Given the description of an element on the screen output the (x, y) to click on. 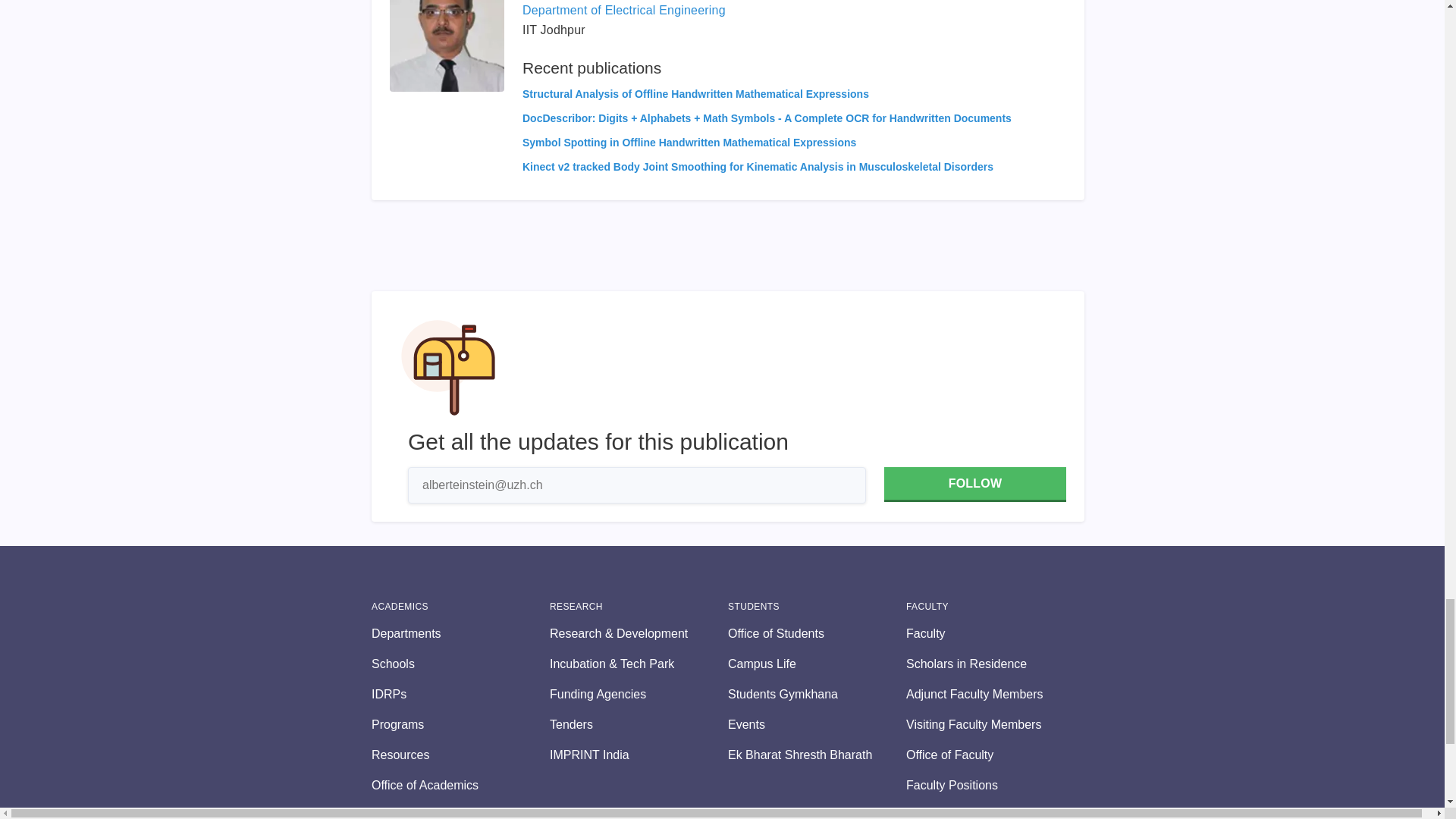
Schools (460, 664)
FOLLOW (974, 484)
Subscribe form hero illustration (448, 367)
Department of Electrical Engineering (623, 10)
Resources (460, 755)
Departments (460, 633)
Admissions (460, 812)
